Given the description of an element on the screen output the (x, y) to click on. 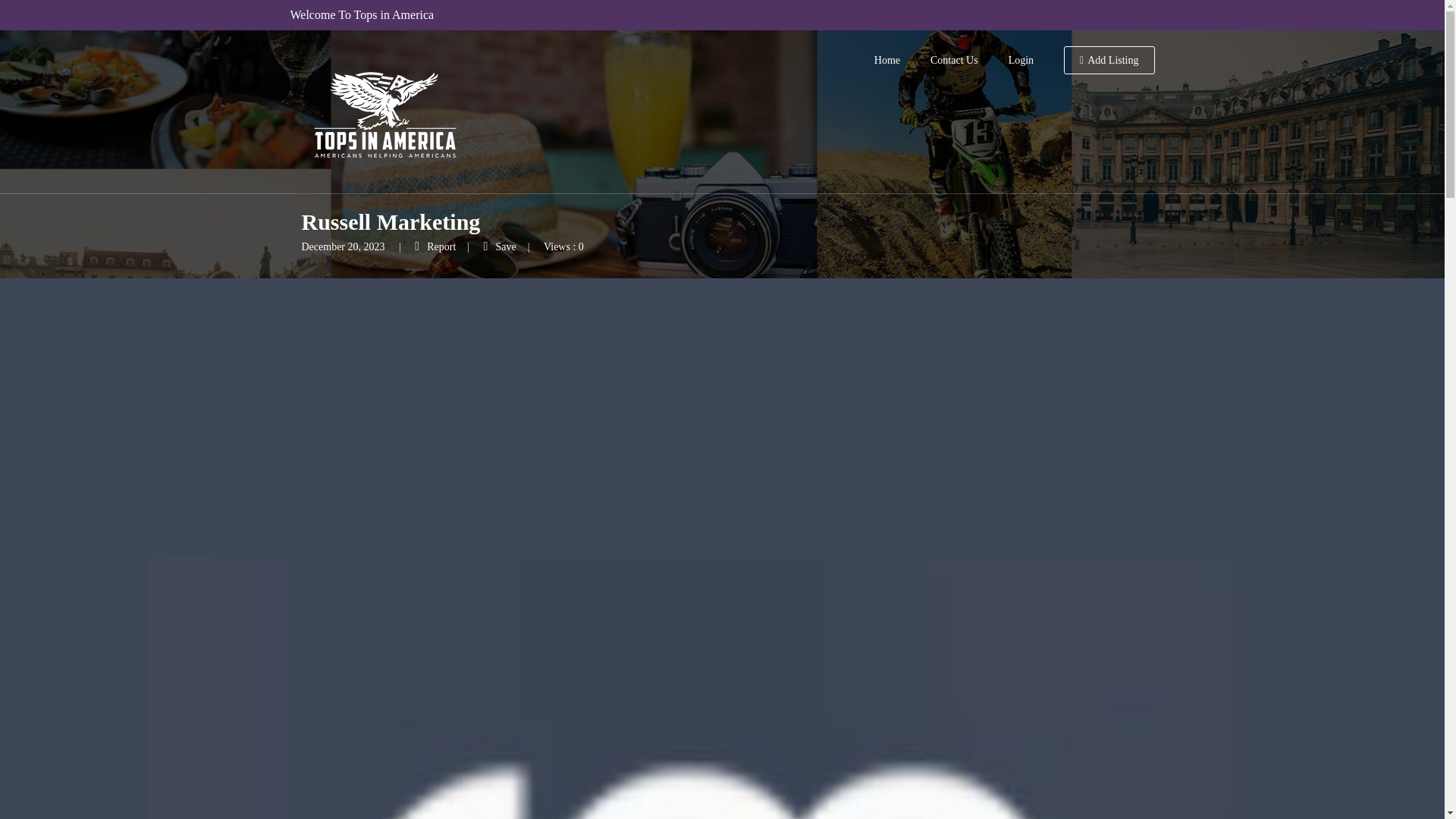
Contact Us (953, 60)
Views : 0 (563, 246)
Home (887, 60)
Add Listing (1108, 60)
Save (499, 246)
Login (1021, 60)
Report (434, 246)
